Given the description of an element on the screen output the (x, y) to click on. 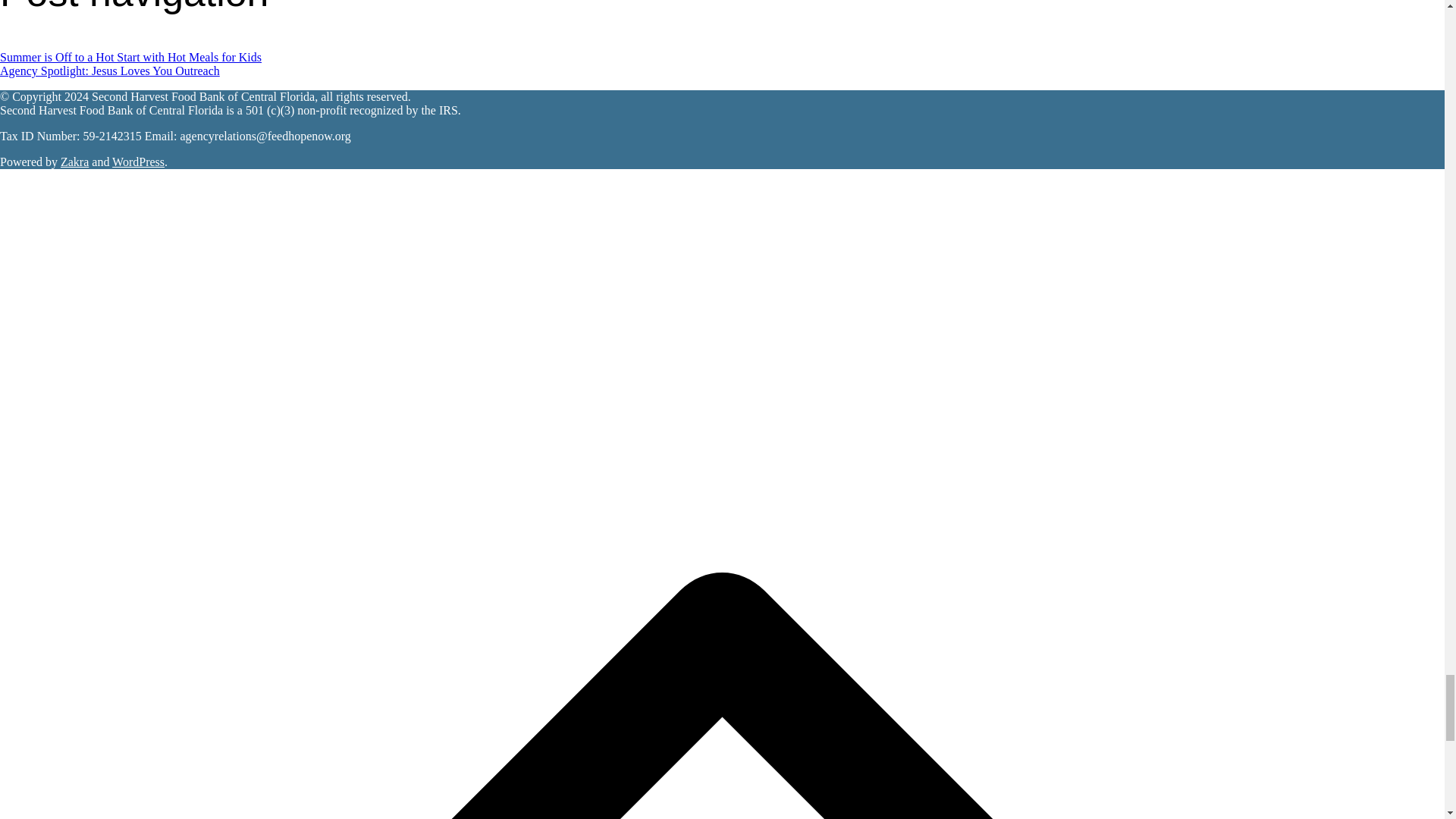
WordPress (138, 161)
Zakra (74, 161)
